Given the description of an element on the screen output the (x, y) to click on. 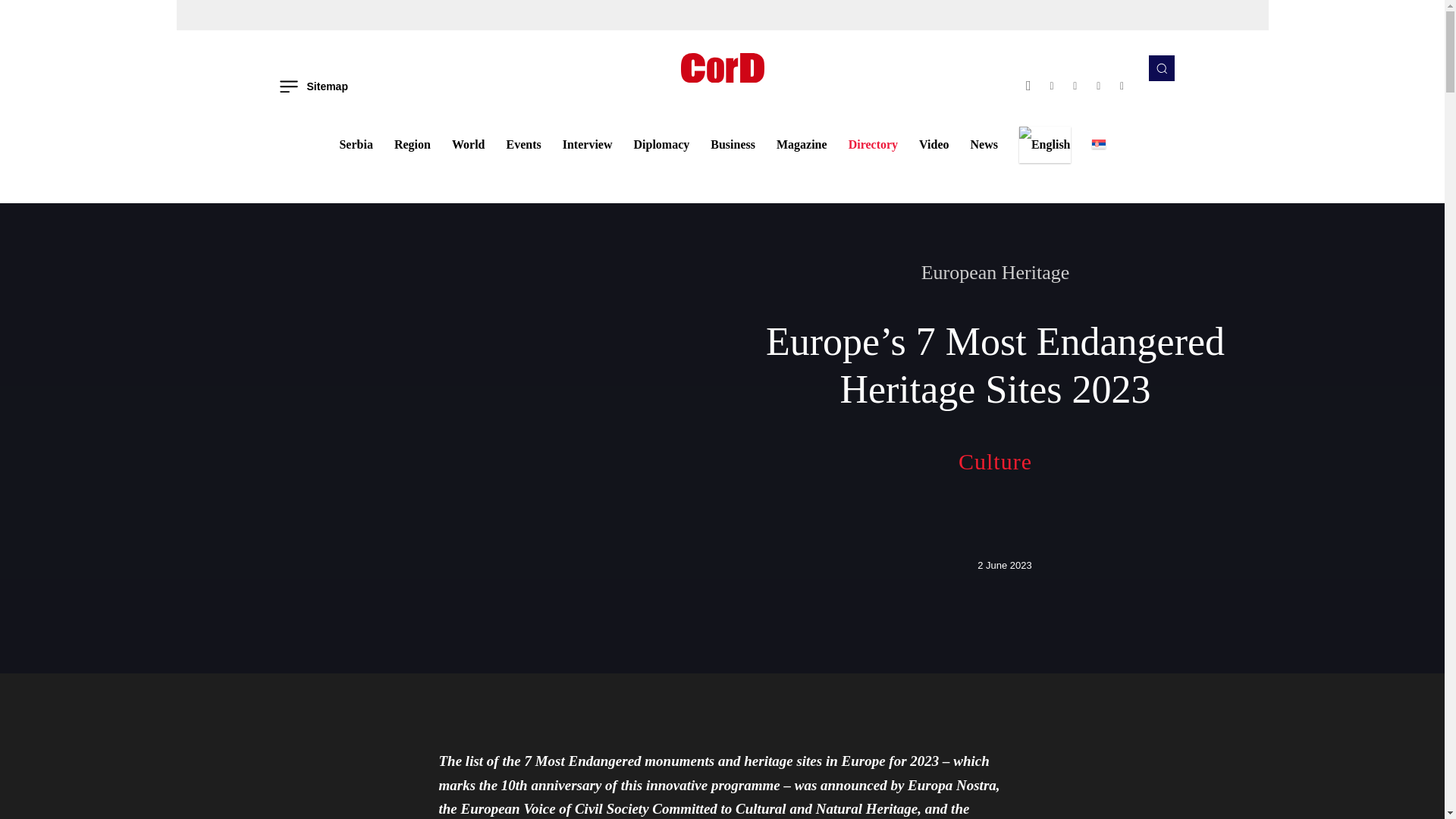
Youtube (1121, 85)
Instagram (1052, 85)
Cord Magazine (722, 67)
Twitter (1097, 85)
Linkedin (1075, 85)
Facebook (1028, 85)
